Given the description of an element on the screen output the (x, y) to click on. 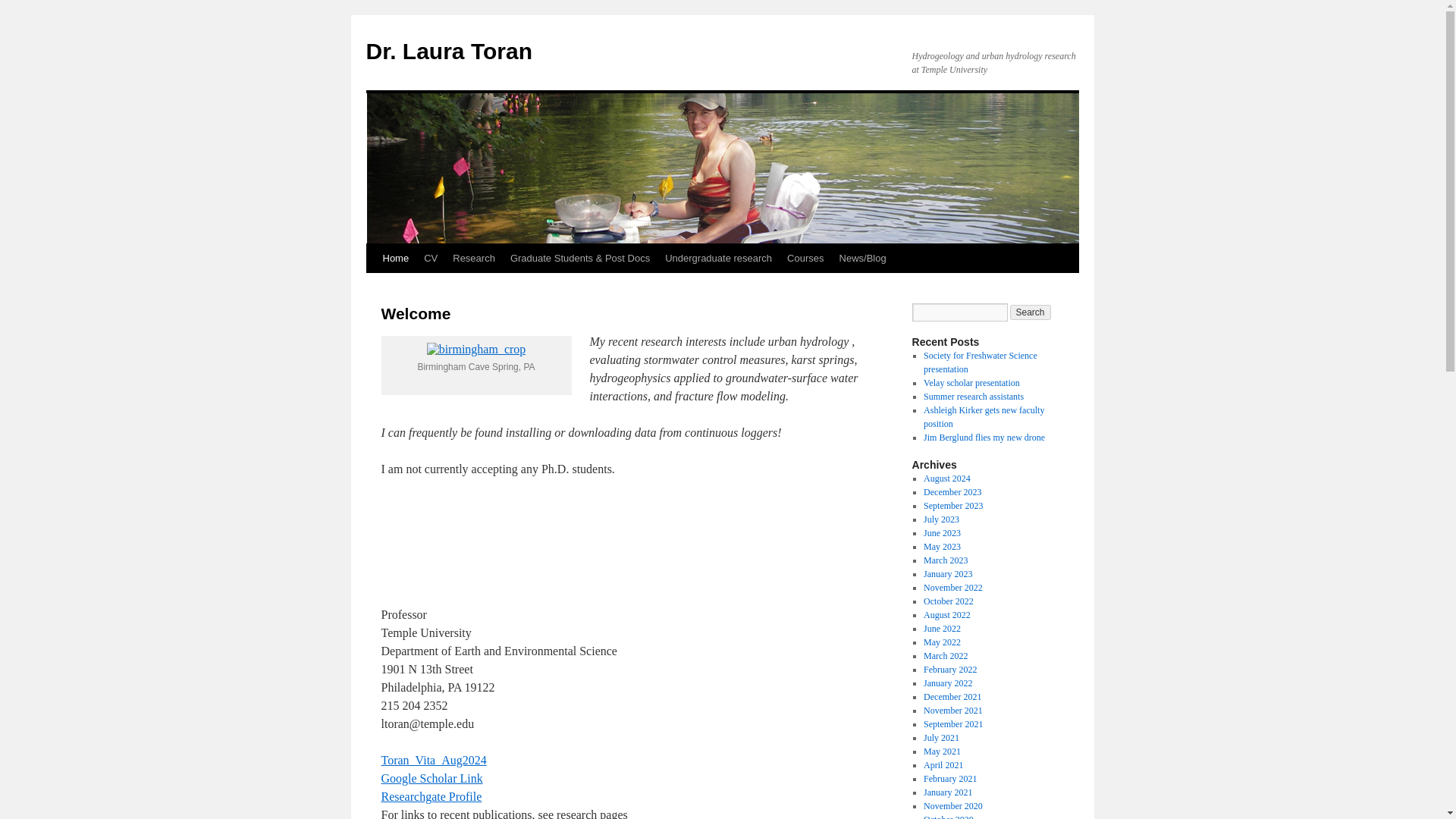
January 2023 (947, 573)
Research (473, 258)
Courses (804, 258)
June 2022 (941, 628)
June 2023 (941, 532)
Undergraduate research (718, 258)
October 2022 (948, 601)
March 2023 (945, 560)
Velay scholar presentation (971, 382)
Google Scholar Link (430, 778)
